Given the description of an element on the screen output the (x, y) to click on. 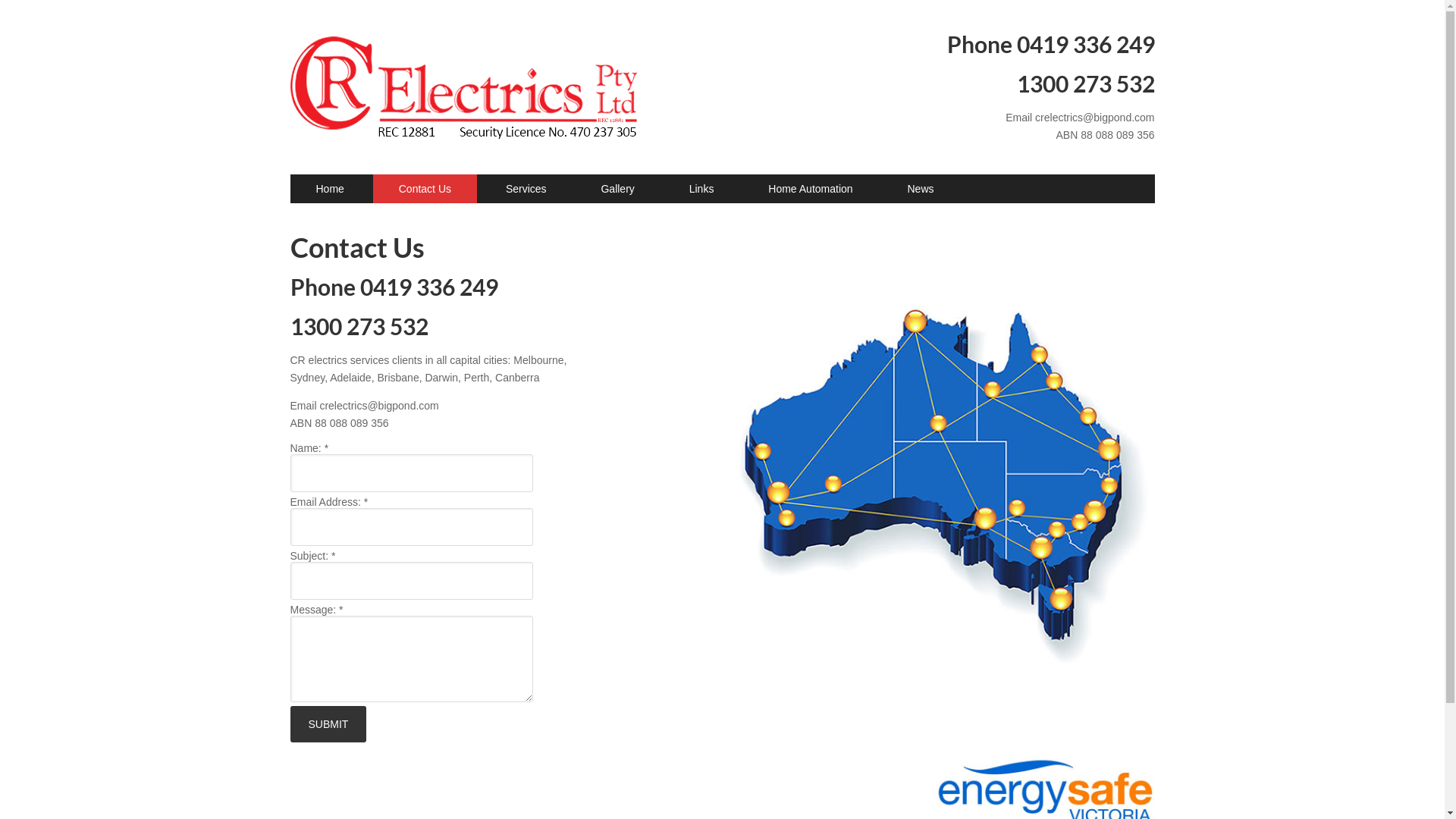
Please wait until Google reCAPTCHA is loaded. Element type: hover (327, 724)
Links Element type: text (701, 188)
CR ELECTRICS Element type: text (463, 62)
Services Element type: text (526, 188)
Gallery Element type: text (616, 188)
Contact Us Element type: text (424, 188)
Submit Element type: text (327, 724)
News Element type: text (920, 188)
Home Automation Element type: text (810, 188)
Home Element type: text (329, 188)
